Given the description of an element on the screen output the (x, y) to click on. 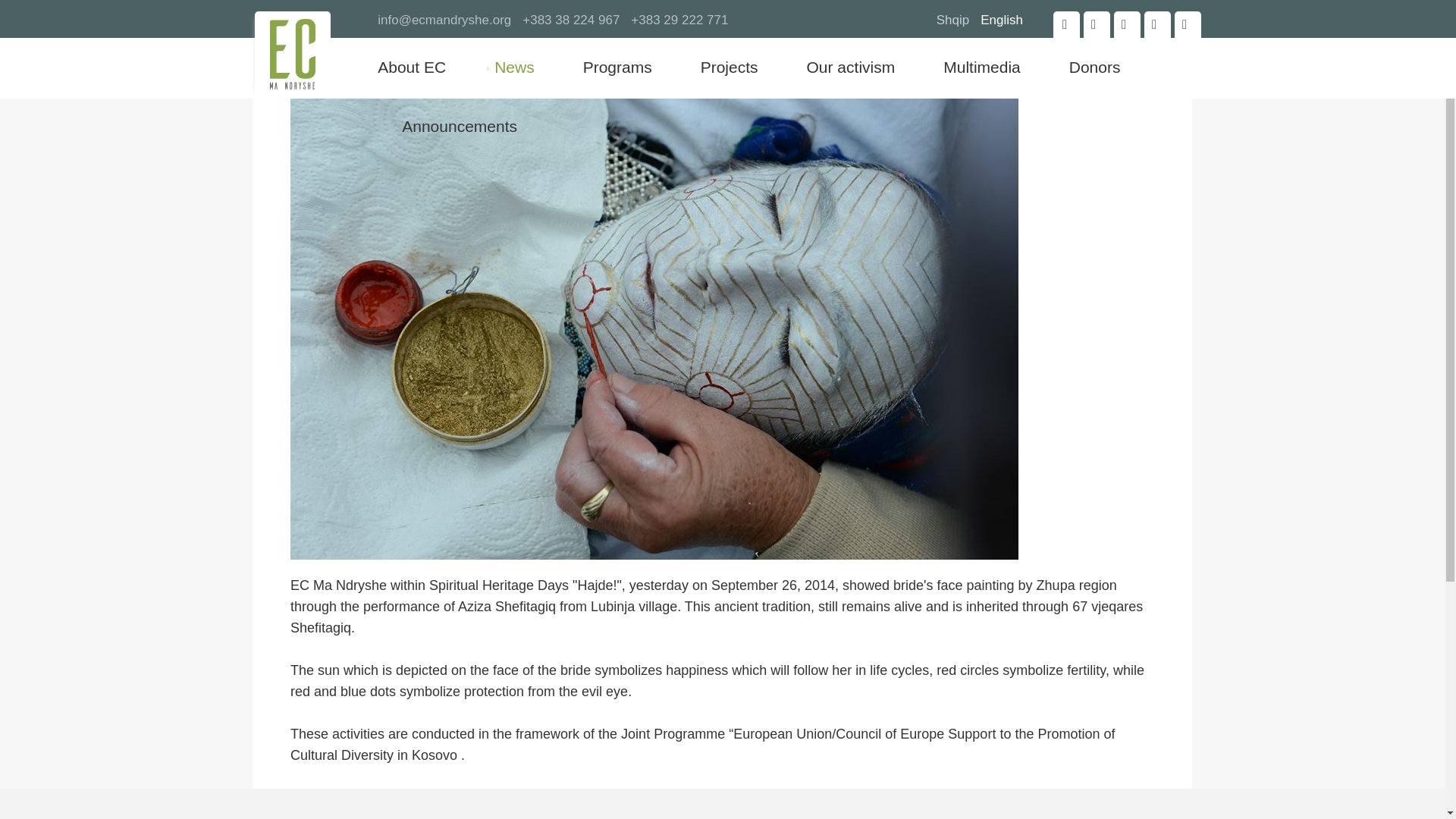
Multimedia (981, 67)
Programs (618, 67)
Facebook (1066, 24)
Projects (730, 67)
About EC (423, 67)
Our activism (851, 67)
Youtube (1157, 24)
Shqip (952, 20)
News (514, 67)
Announcements (459, 126)
